Given the description of an element on the screen output the (x, y) to click on. 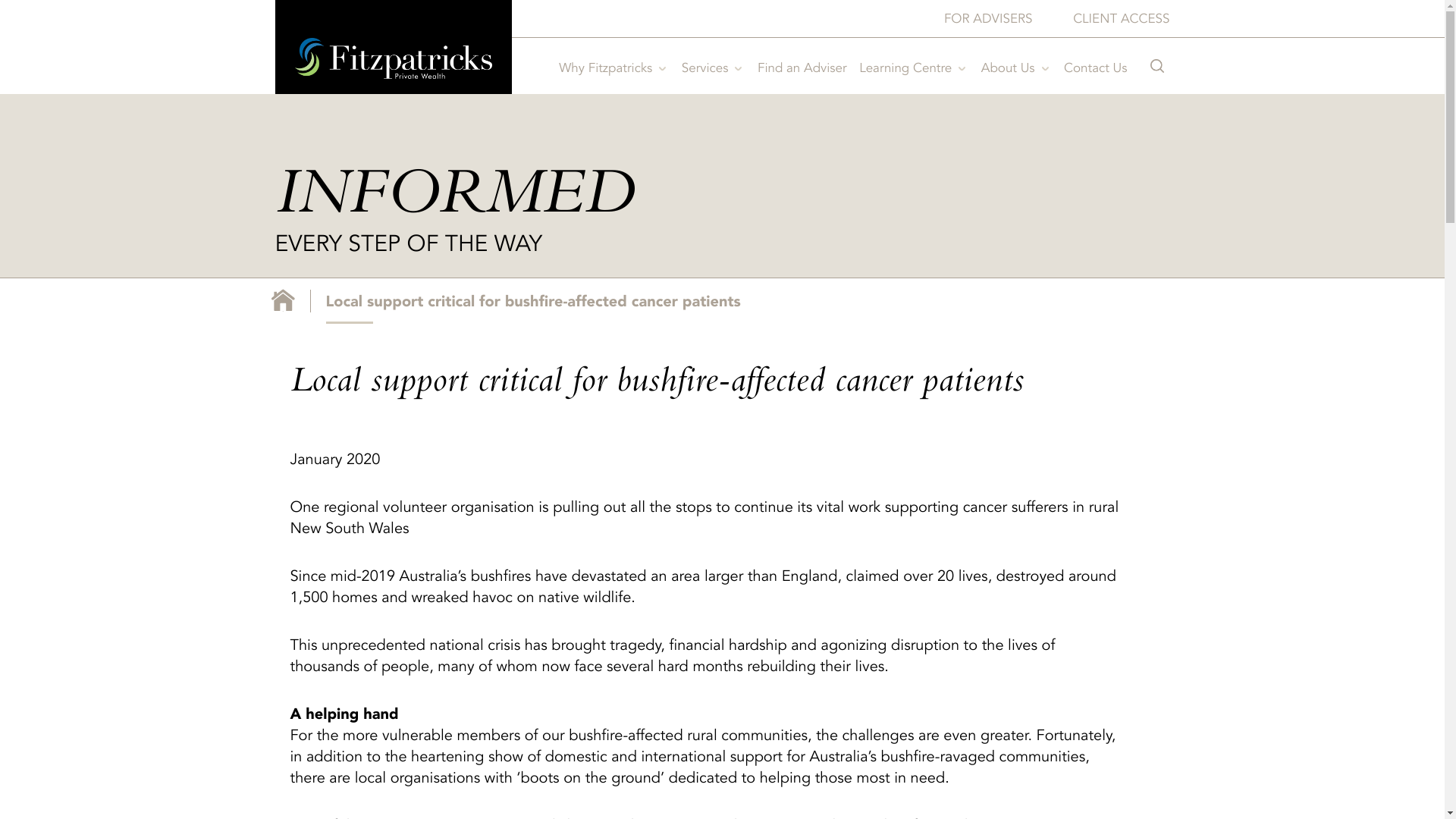
CLIENT ACCESS Element type: text (1121, 18)
About Us Element type: text (1012, 66)
Learning Centre Element type: text (909, 66)
Services Element type: text (709, 66)
Why Fitzpatricks Element type: text (609, 66)
Contact Us Element type: text (1095, 66)
Go to Fitzpatricks. Element type: hover (282, 299)
FOR ADVISERS Element type: text (988, 18)
Find an Adviser Element type: text (802, 66)
